Given the description of an element on the screen output the (x, y) to click on. 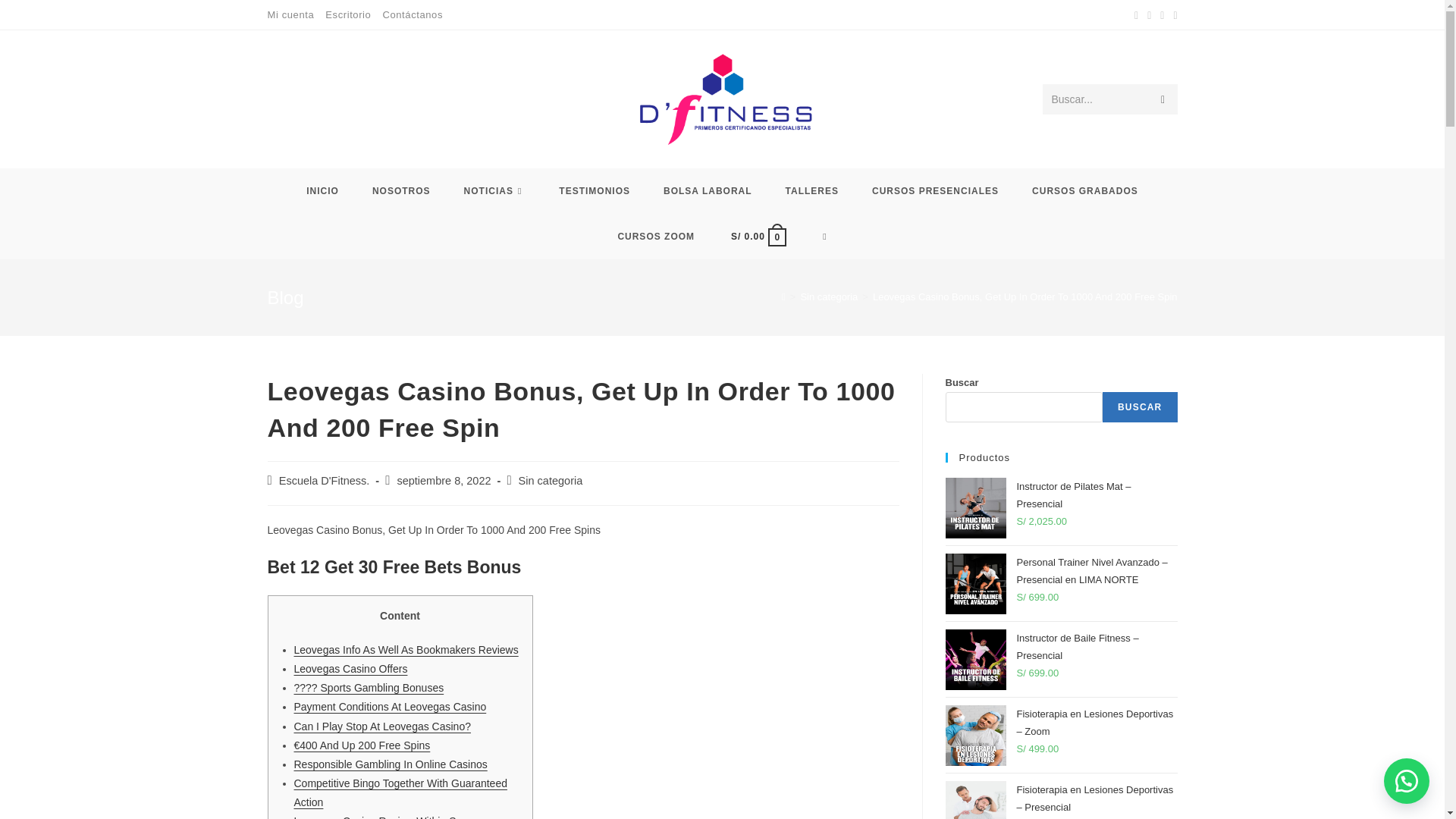
BOLSA LABORAL (707, 190)
Mi cuenta (290, 14)
CURSOS ZOOM (655, 236)
CURSOS GRABADOS (1084, 190)
INICIO (322, 190)
NOSOTROS (400, 190)
Escritorio (347, 14)
CURSOS PRESENCIALES (935, 190)
TALLERES (812, 190)
NOTICIAS (494, 190)
TESTIMONIOS (593, 190)
Entradas de Escuela D'Fitness. (324, 480)
Chatea con nosotros si tienes dudas. (1406, 780)
